Given the description of an element on the screen output the (x, y) to click on. 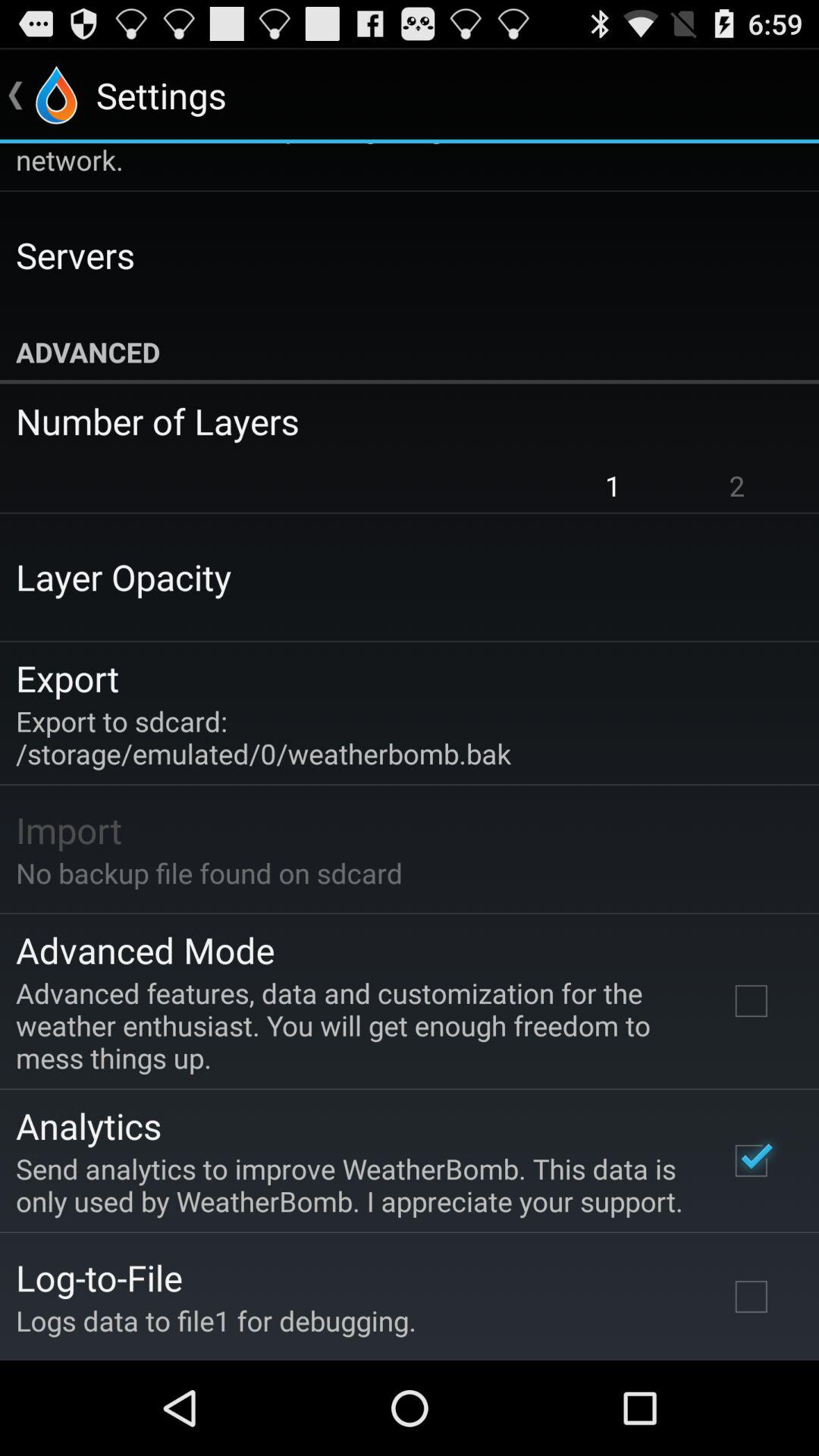
press item below advanced mode item (351, 1025)
